Given the description of an element on the screen output the (x, y) to click on. 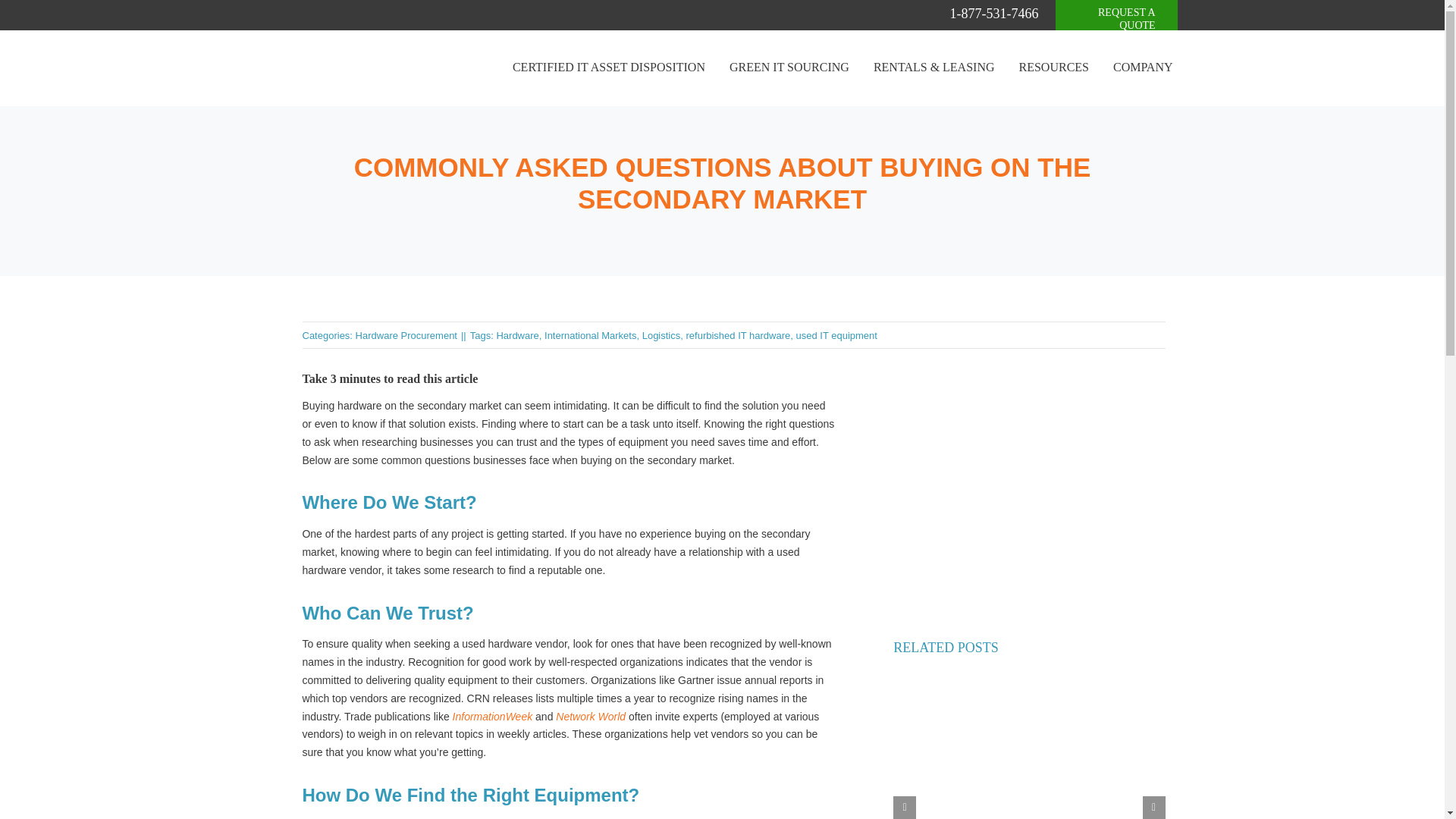
GREEN IT SOURCING (789, 68)
REQUEST A QUOTE (1115, 20)
CERTIFIED IT ASSET DISPOSITION (609, 68)
